Given the description of an element on the screen output the (x, y) to click on. 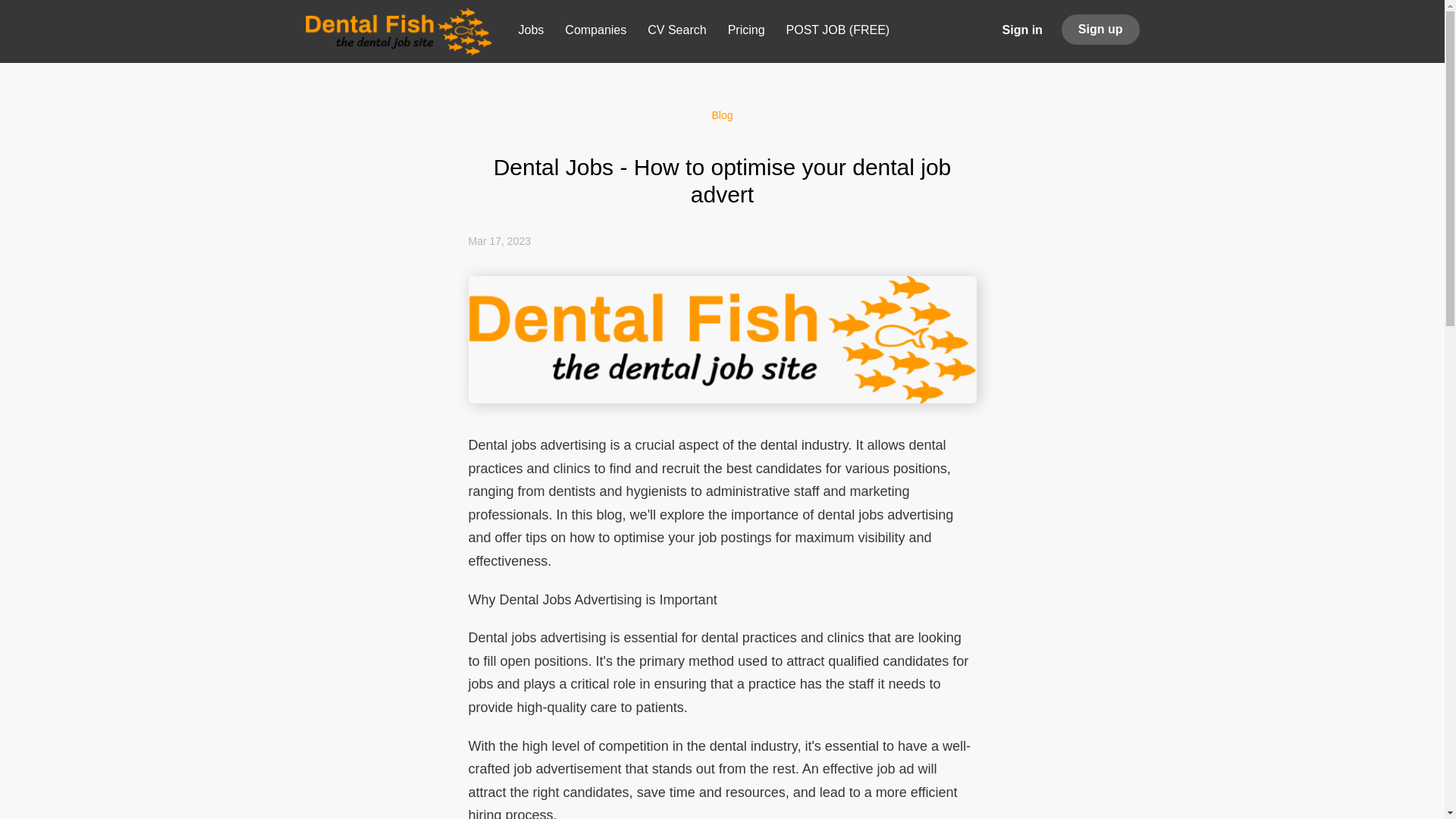
Jobs (531, 33)
Sign in (1022, 28)
CV Search (676, 33)
Blog (721, 114)
Companies (595, 33)
Pricing (746, 33)
Sign up (1100, 29)
